Given the description of an element on the screen output the (x, y) to click on. 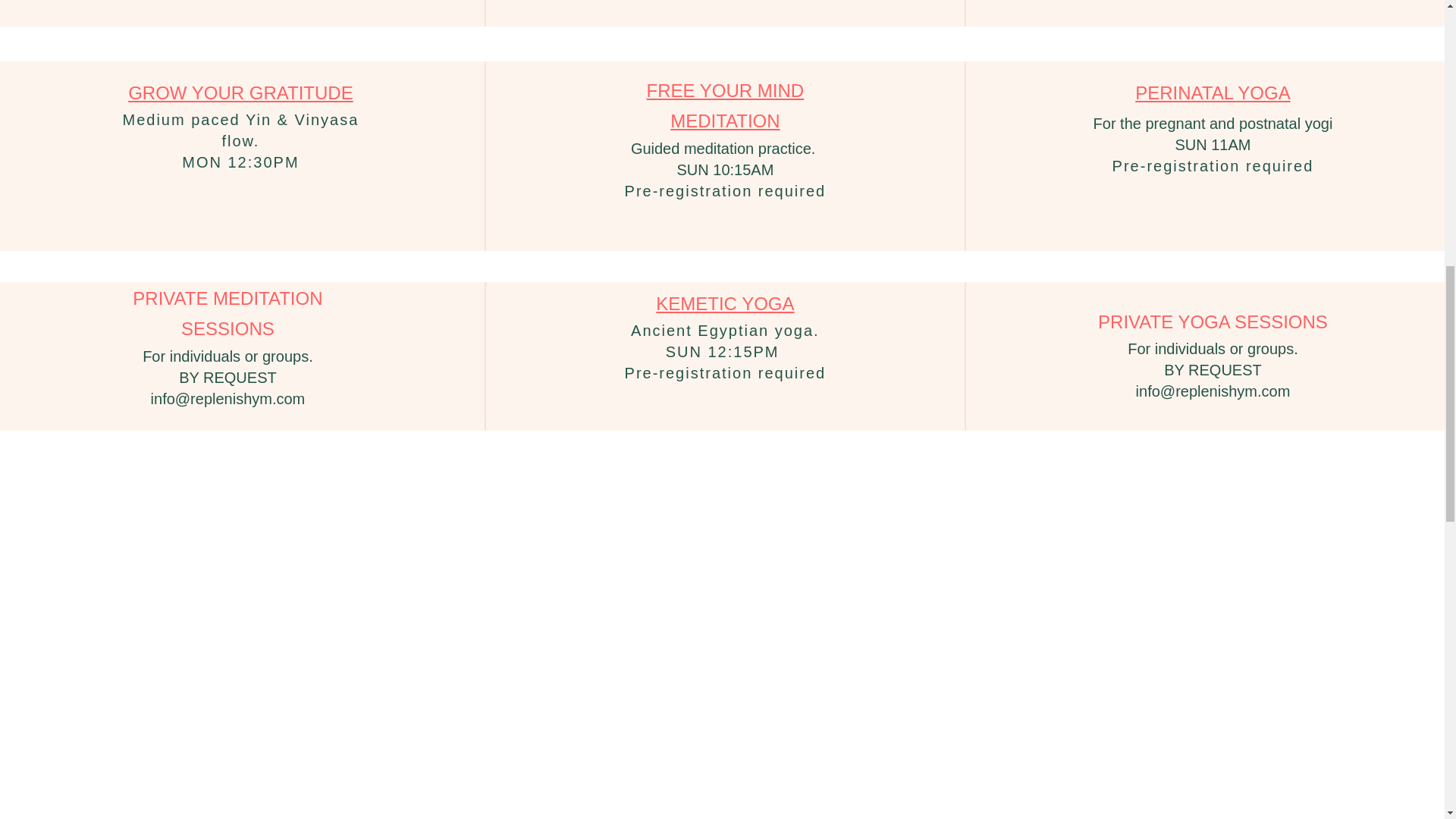
FREE YOUR MIND MEDITATION (725, 108)
KEMETIC YOGA (724, 305)
